Given the description of an element on the screen output the (x, y) to click on. 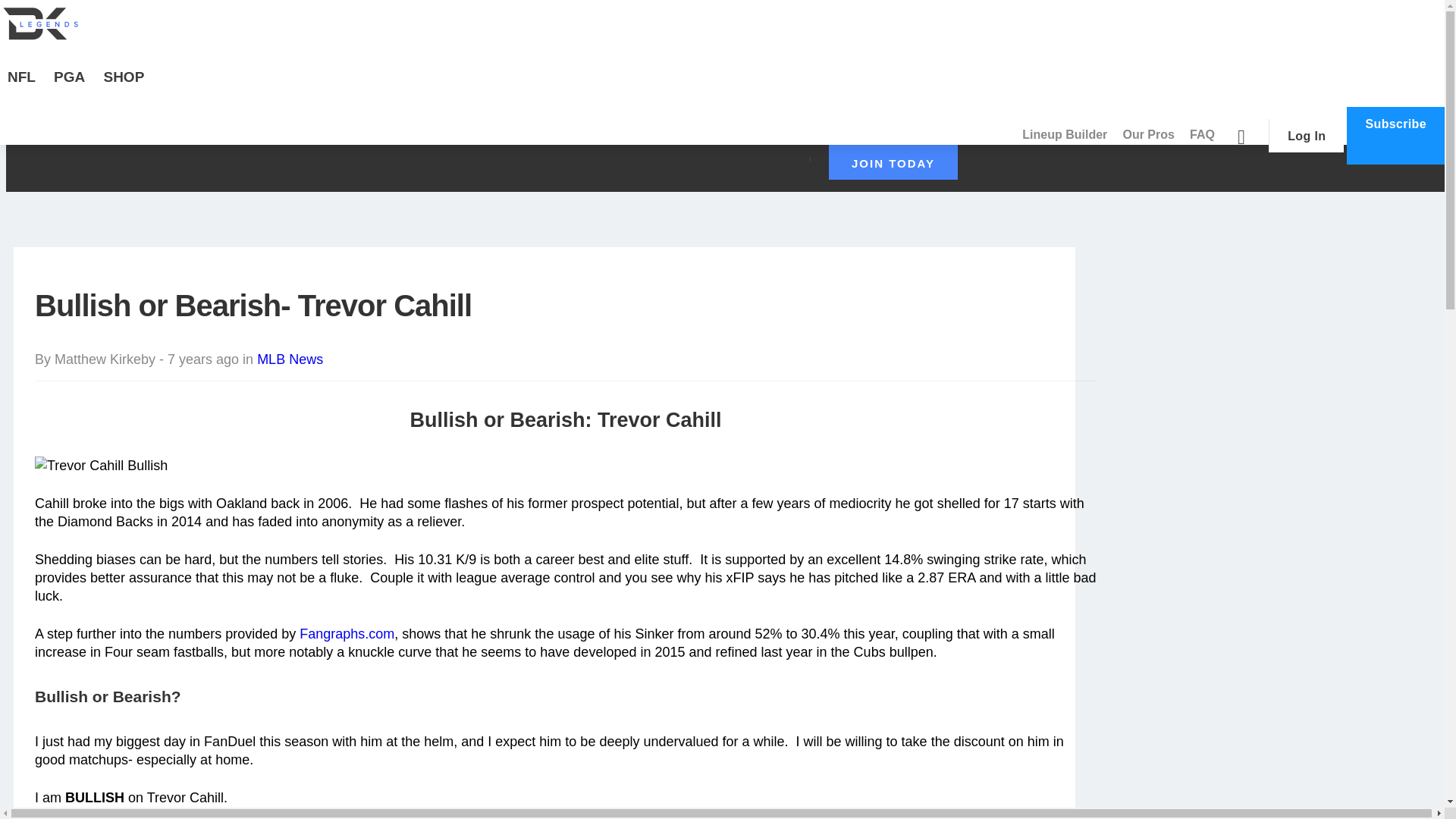
Lineup Builder (1064, 134)
NFL (21, 86)
Our Pros (1147, 134)
FAQ (1202, 134)
PGA (69, 86)
SHOP (123, 86)
Log In (1305, 135)
